Given the description of an element on the screen output the (x, y) to click on. 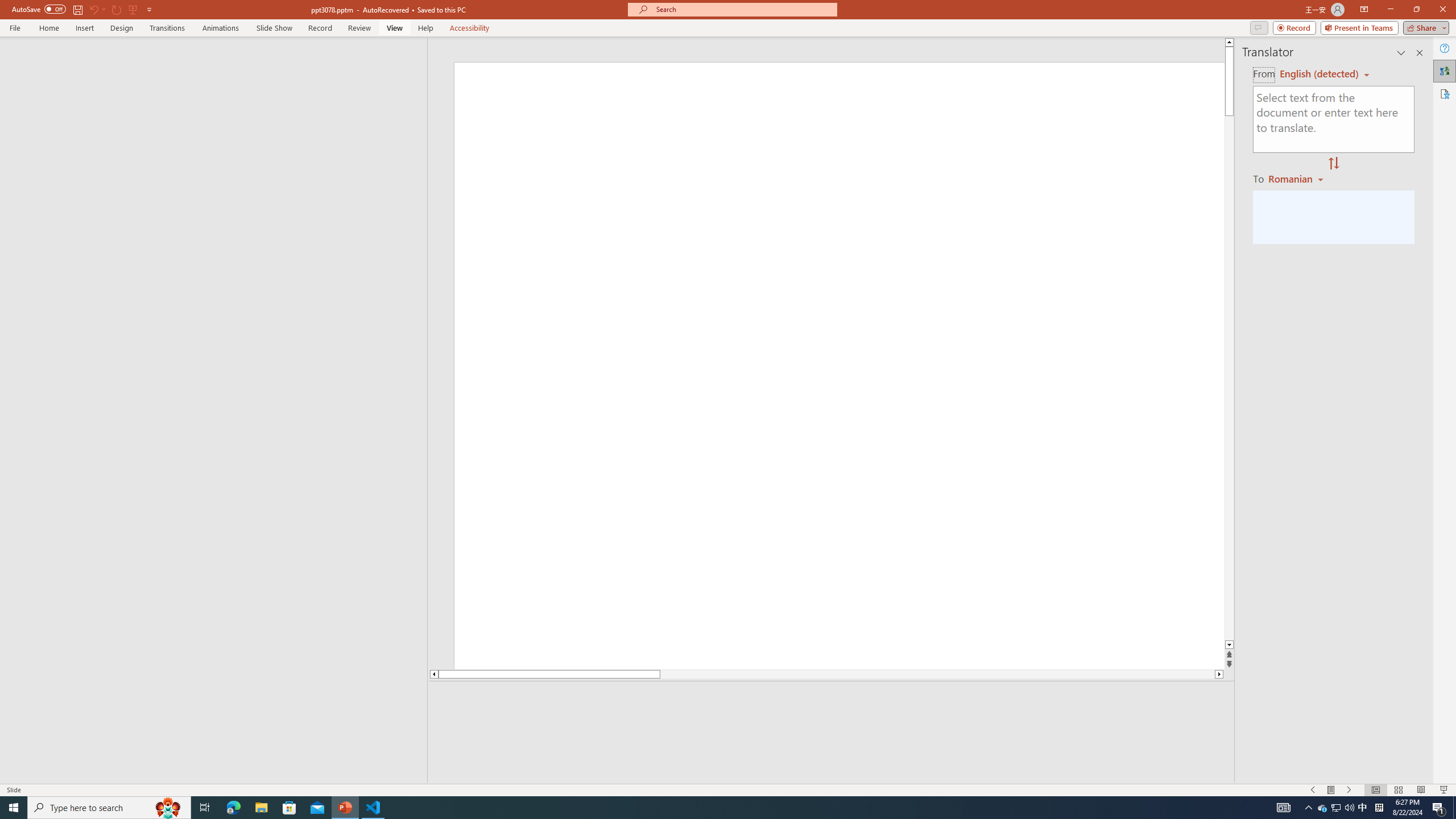
Swap "from" and "to" languages. (1333, 163)
Slide Show Previous On (1313, 790)
